Given the description of an element on the screen output the (x, y) to click on. 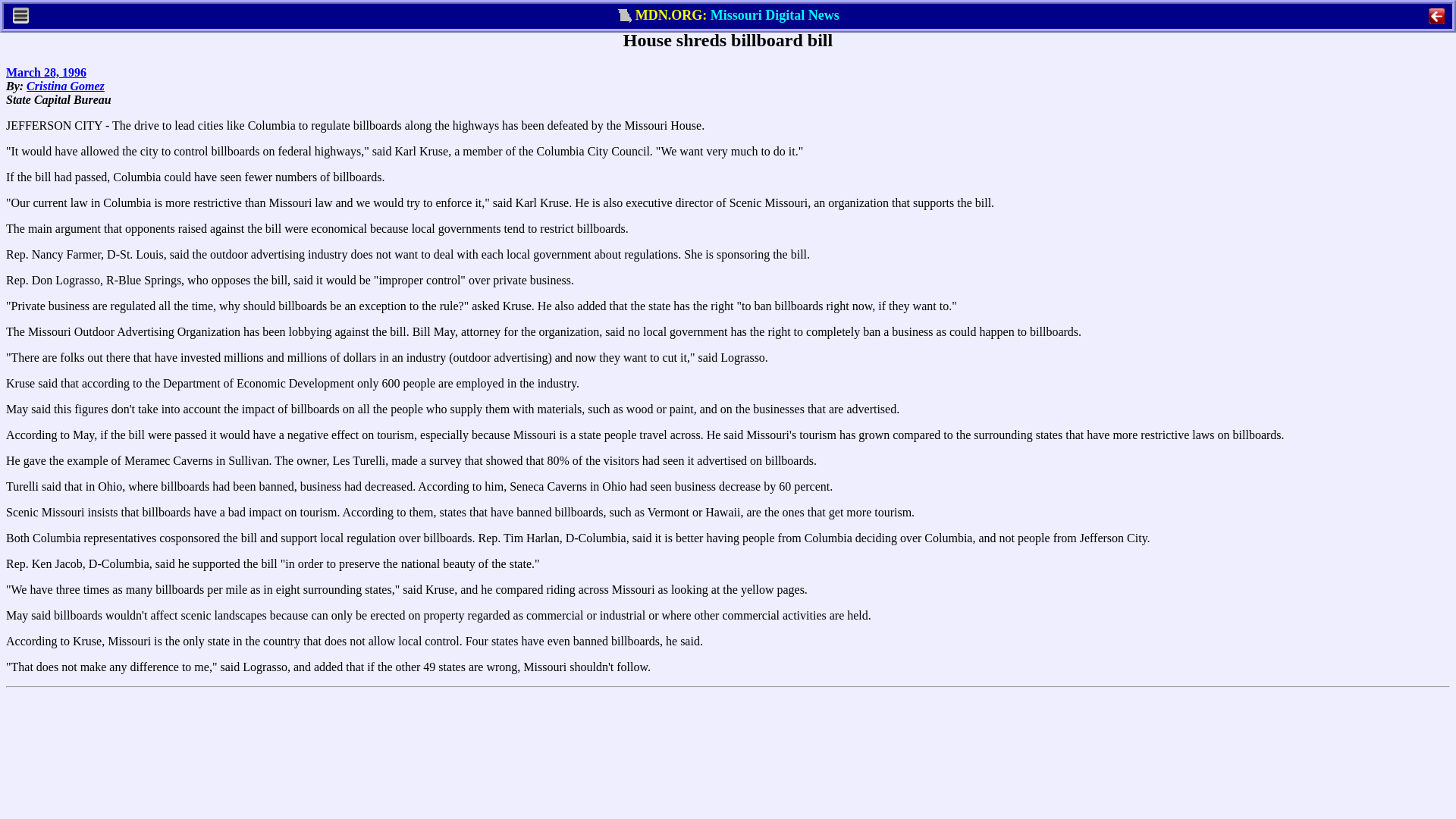
March 28, 1996 (45, 72)
Cristina Gomez (65, 85)
